Given the description of an element on the screen output the (x, y) to click on. 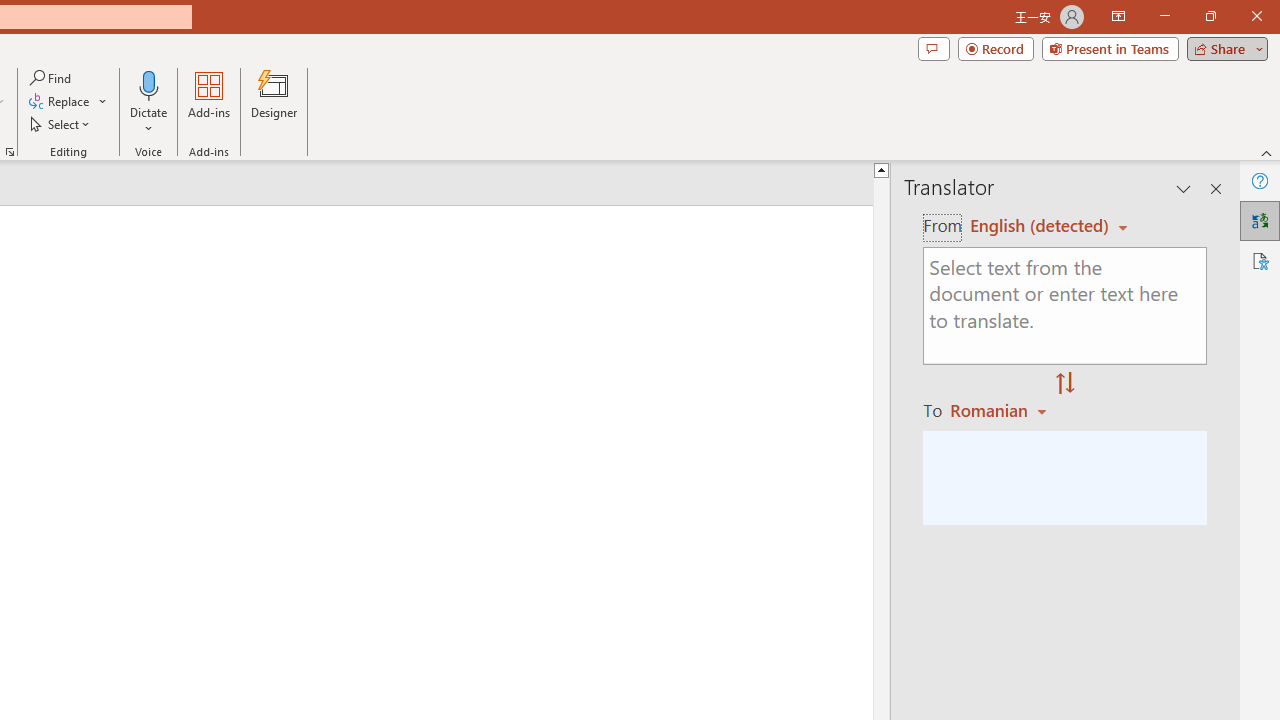
Czech (detected) (1039, 225)
